Given the description of an element on the screen output the (x, y) to click on. 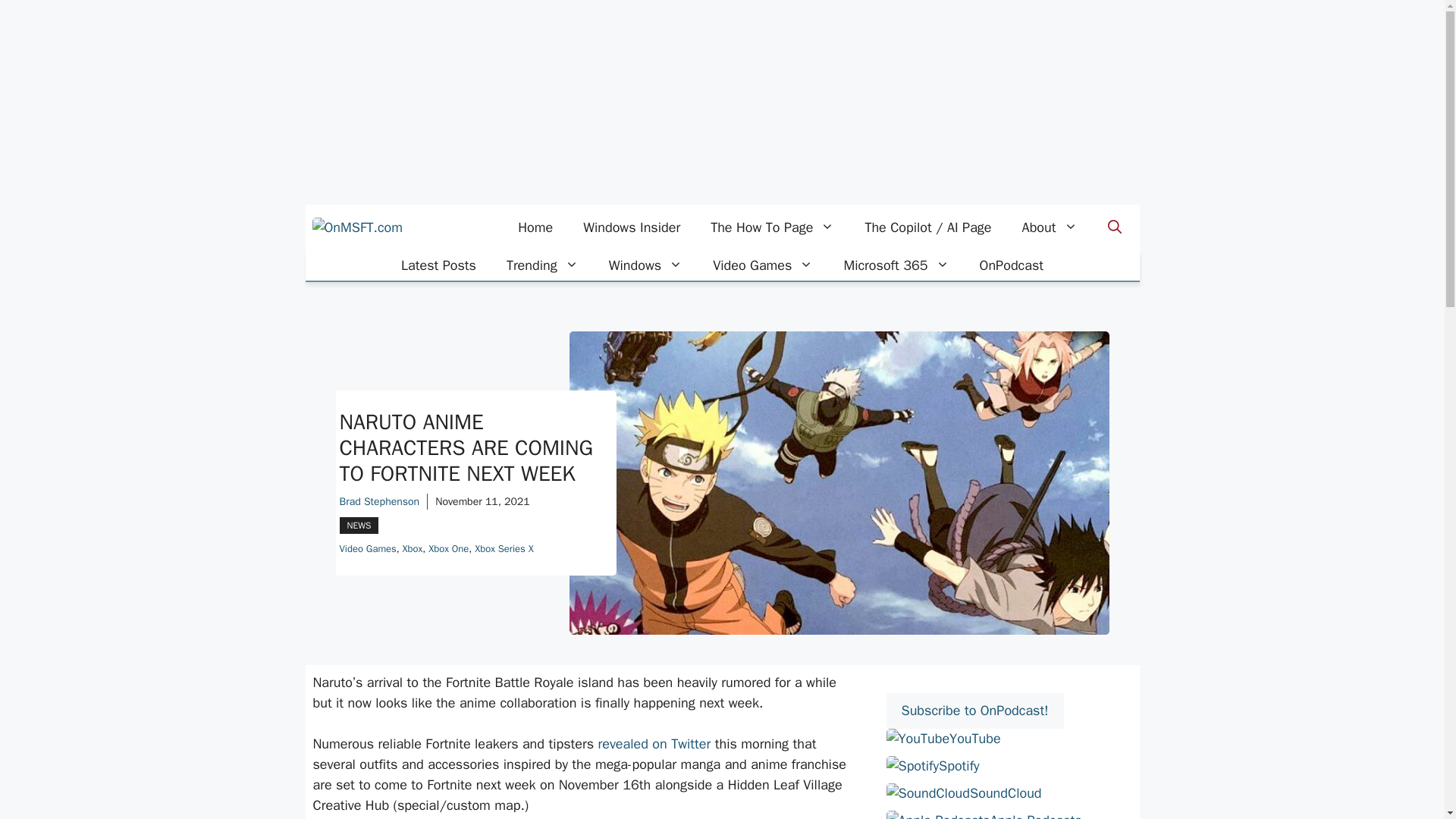
Latest Posts (438, 265)
The How To Page (771, 227)
Windows (645, 265)
Trending (543, 265)
Windows Insider (631, 227)
Home (534, 227)
Video Games (762, 265)
About (1050, 227)
